Given the description of an element on the screen output the (x, y) to click on. 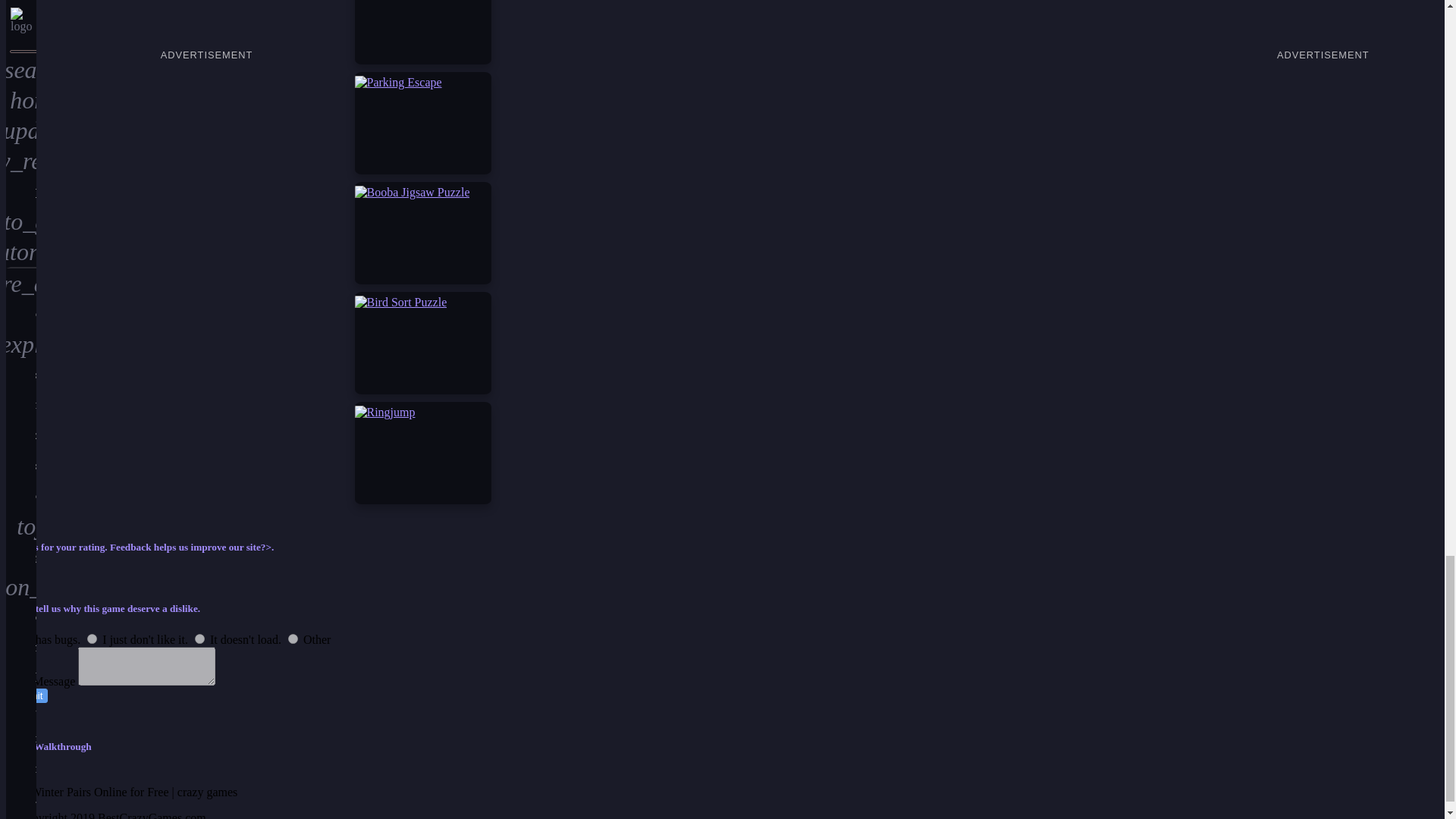
It has bugs. (15, 638)
Other (293, 638)
It doesn't load. (200, 638)
I just don't like it. (92, 638)
